Given the description of an element on the screen output the (x, y) to click on. 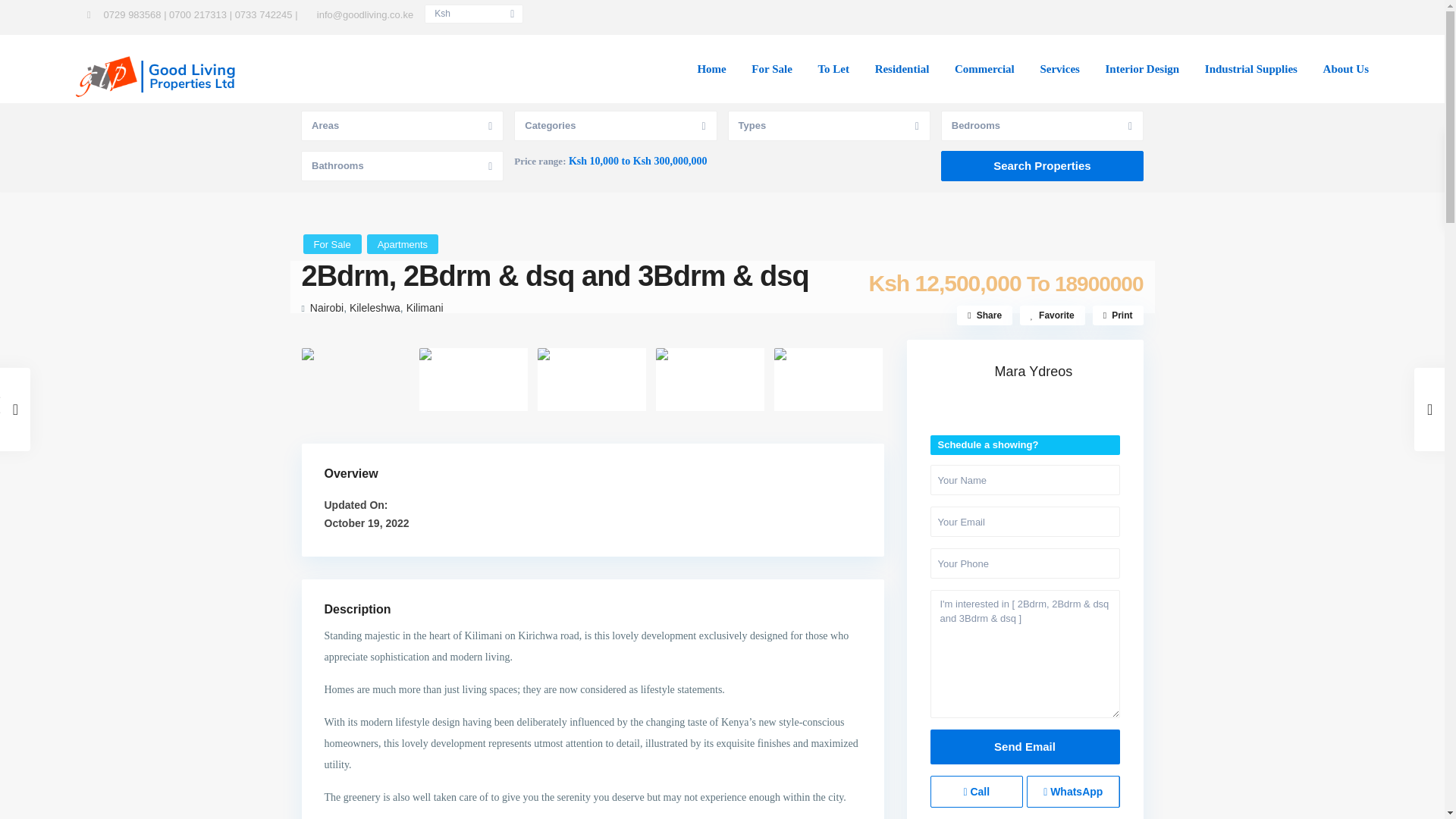
Search (1324, 15)
For Sale (771, 69)
Services (1058, 69)
Send Email (1024, 746)
Industrial Supplies (1250, 69)
Interior Design (1142, 69)
Residential (901, 69)
Commercial (984, 69)
Search Properties (1041, 165)
